Given the description of an element on the screen output the (x, y) to click on. 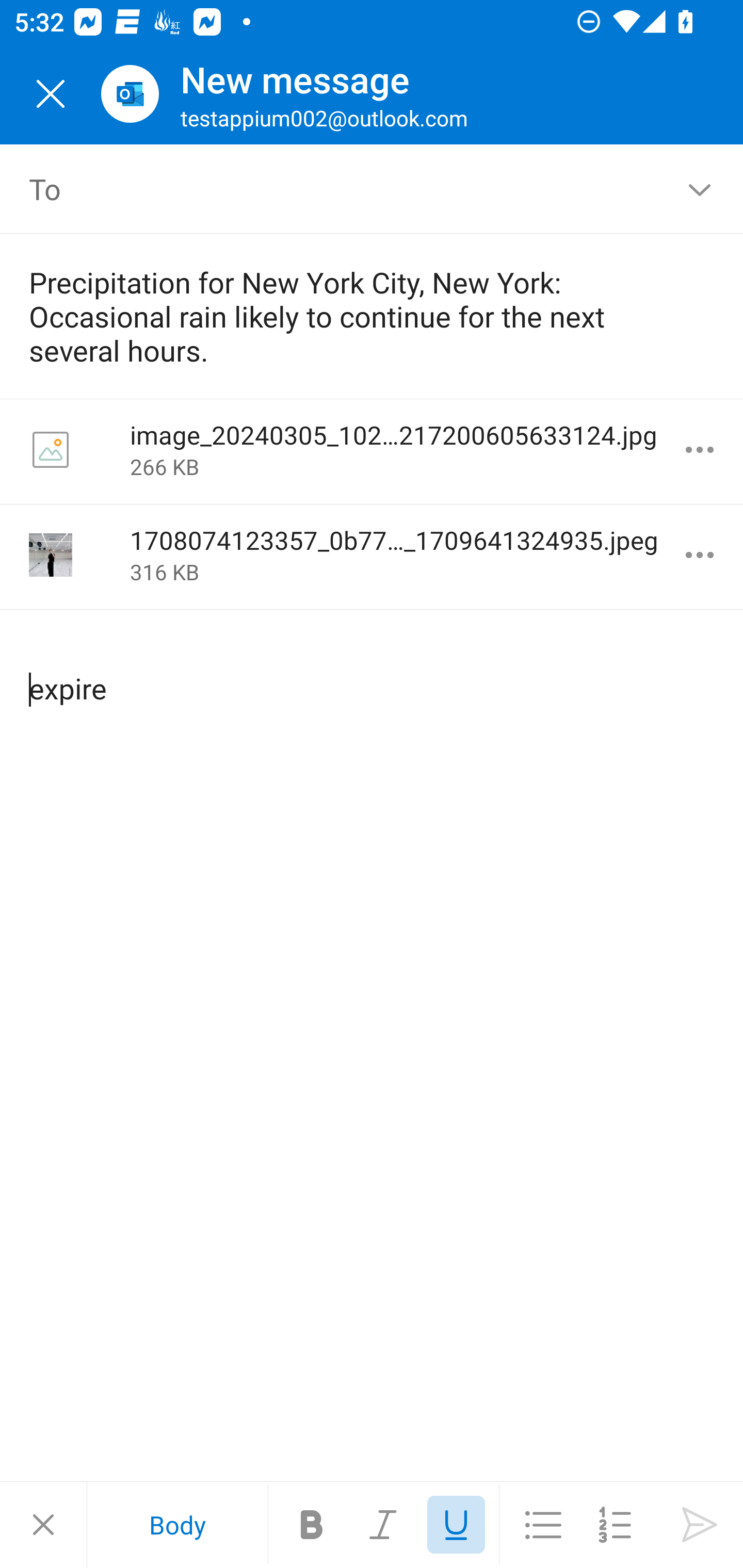
Close (50, 93)
More options (699, 449)
More options (699, 554)

expire (372, 671)
Close (43, 1524)
Send (699, 1524)
Font style button body Body (176, 1524)
Bold (311, 1524)
Italics (384, 1524)
Selected Underline (456, 1524)
Bulleted list (543, 1524)
Numbered list (615, 1524)
